Given the description of an element on the screen output the (x, y) to click on. 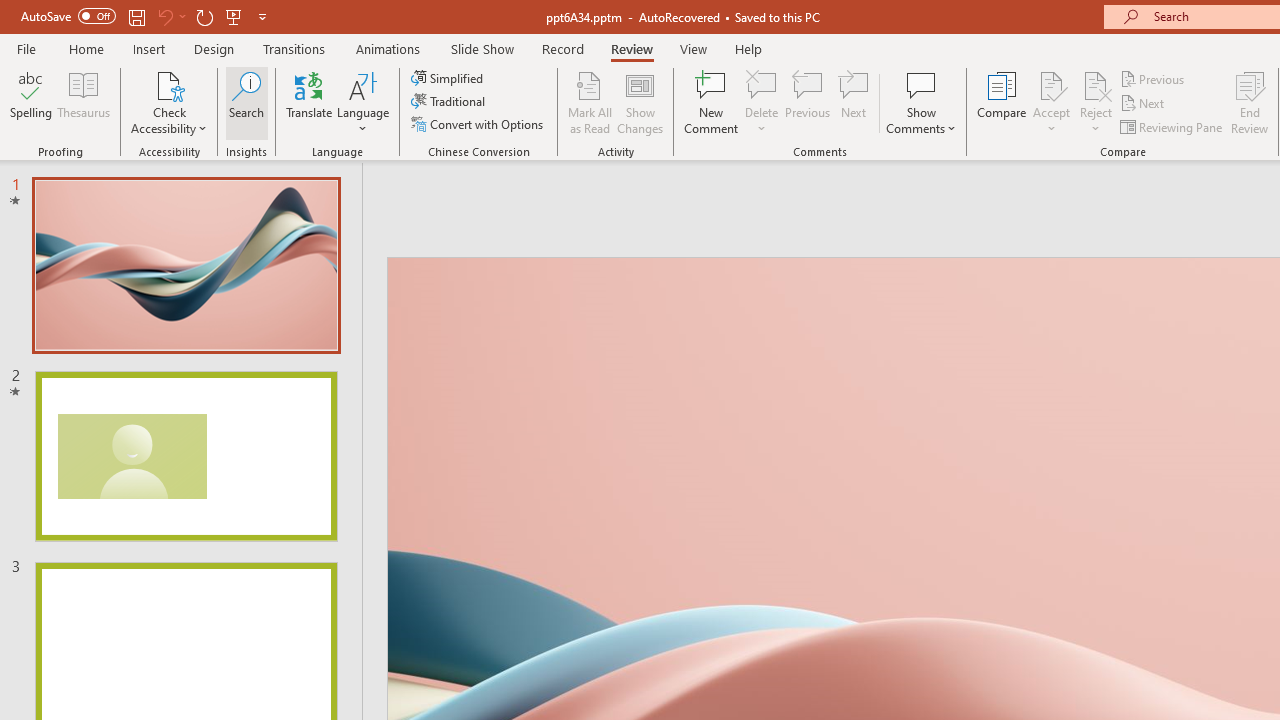
End Review (1249, 102)
Show Comments (921, 102)
Traditional (449, 101)
Reject Change (1096, 84)
New Comment (711, 102)
Spelling... (31, 102)
